Given the description of an element on the screen output the (x, y) to click on. 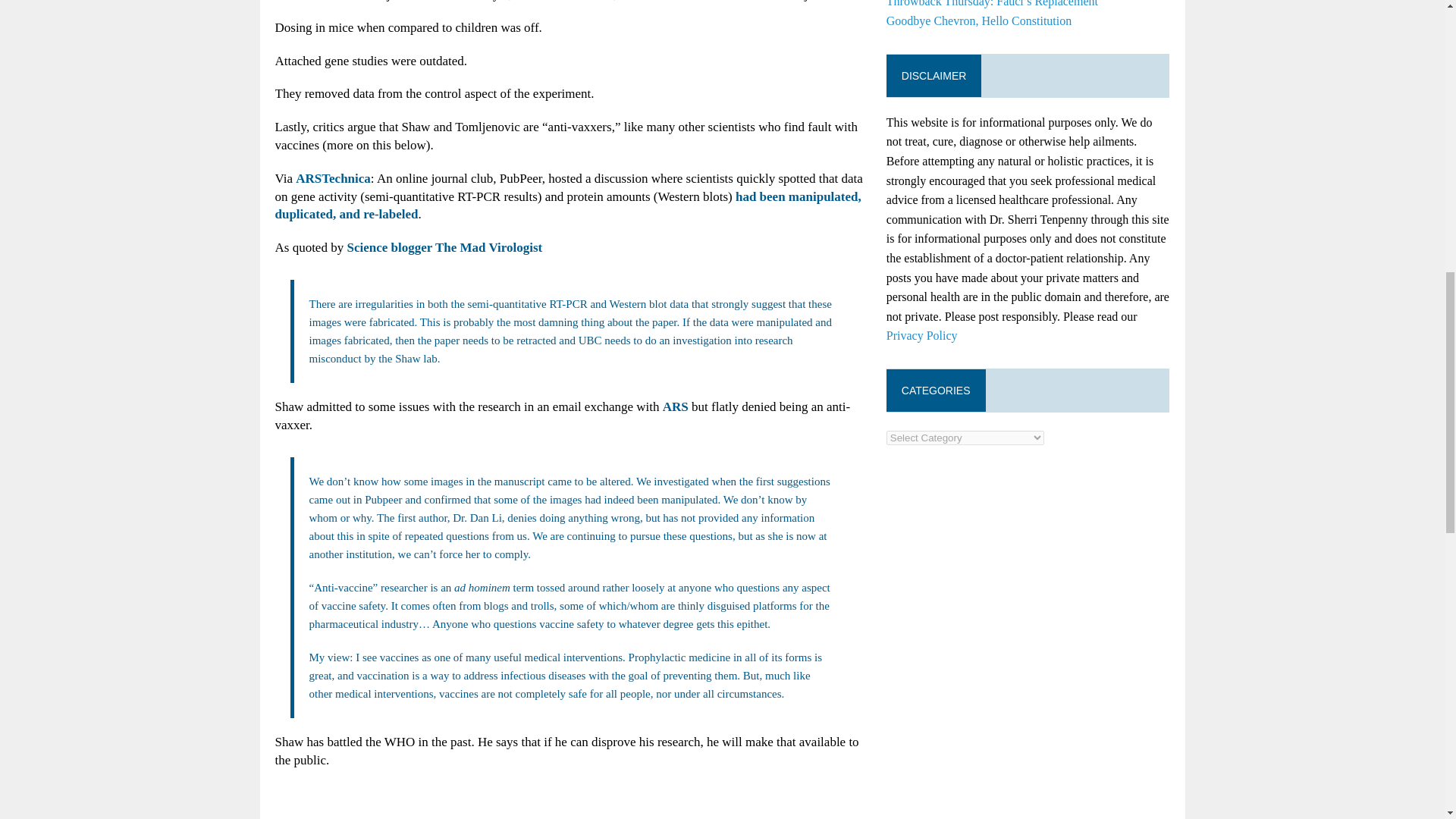
Privacy Policy (922, 335)
Goodbye Chevron, Hello Constitution (978, 20)
Science blogger The Mad Virologist (443, 247)
had been manipulated, duplicated, and re-labeled (567, 205)
ARS (675, 406)
ARSTechnica (333, 178)
